Given the description of an element on the screen output the (x, y) to click on. 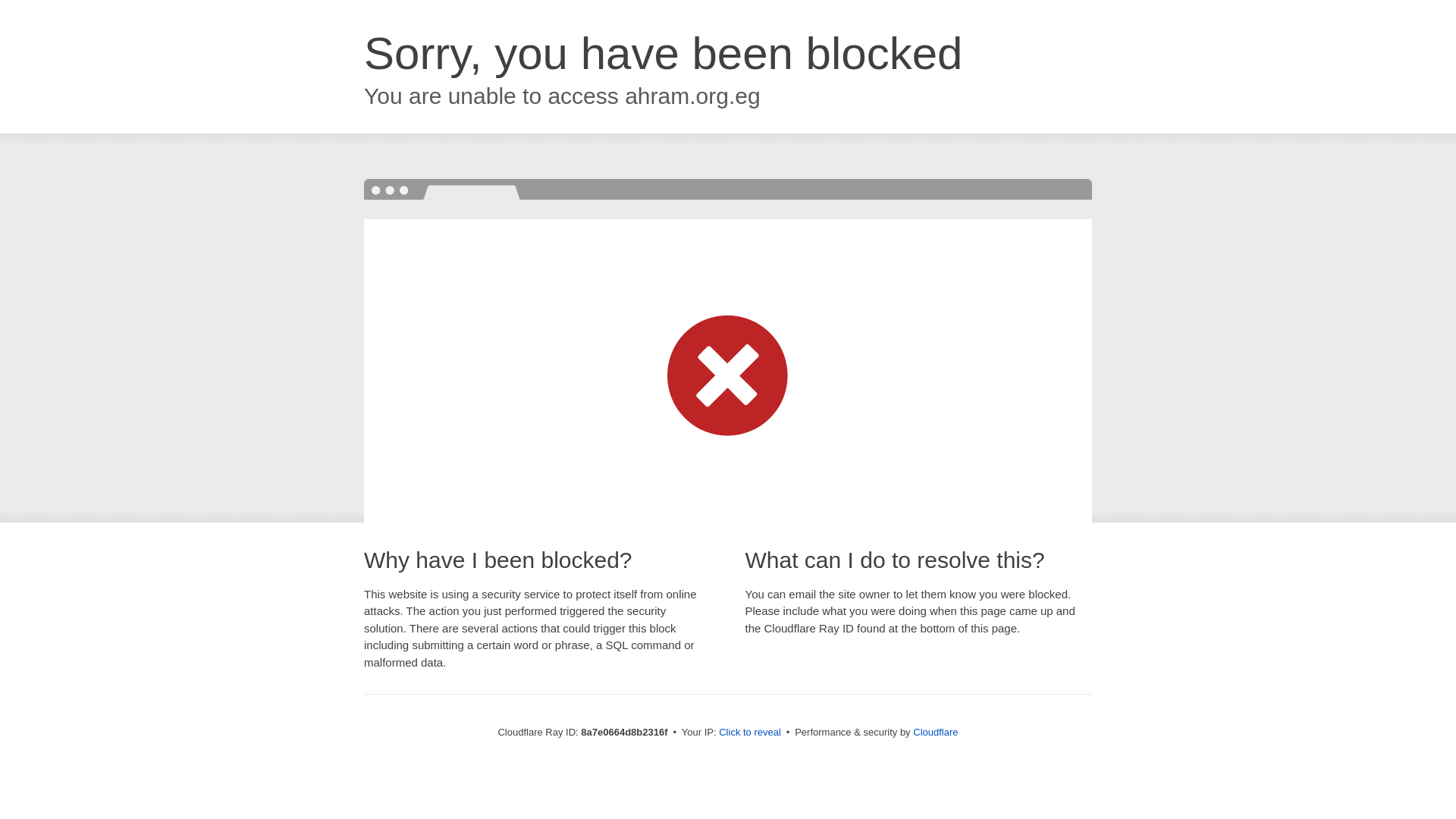
Click to reveal (749, 732)
Cloudflare (935, 731)
